Given the description of an element on the screen output the (x, y) to click on. 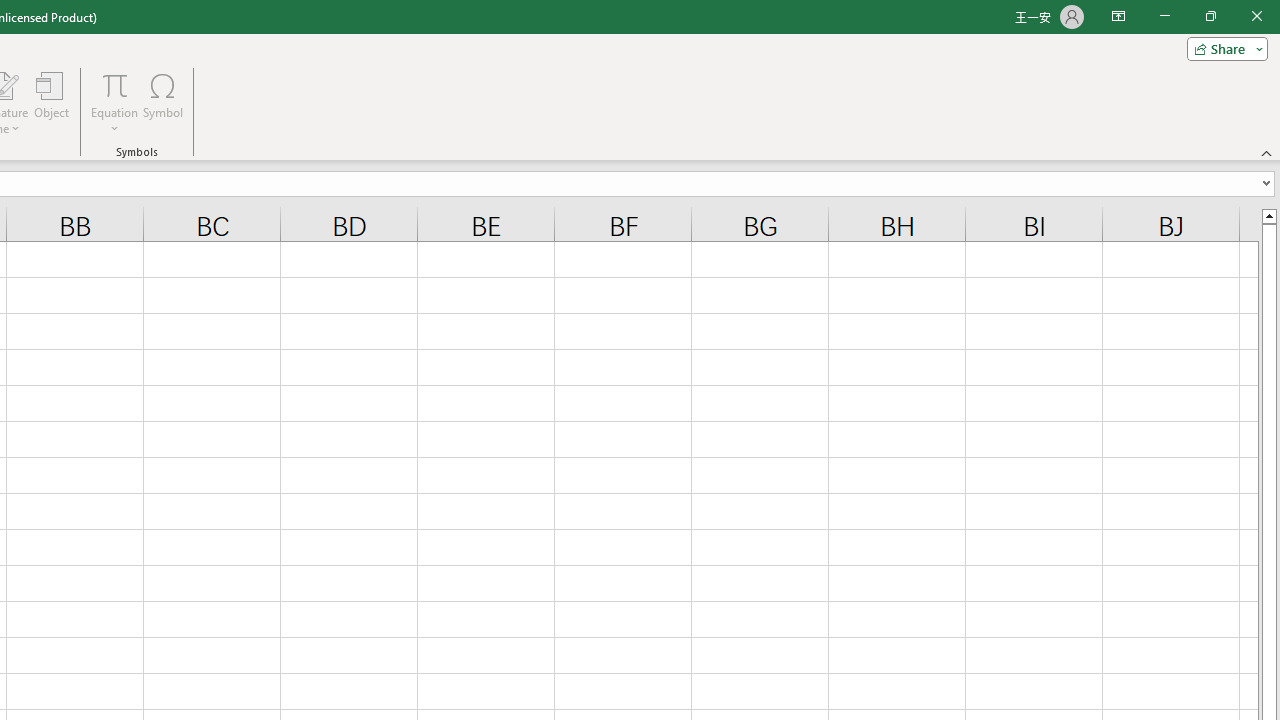
More Options (114, 121)
Object... (51, 102)
Collapse the Ribbon (1267, 152)
Close (1256, 16)
Equation (114, 84)
Equation (114, 102)
Ribbon Display Options (1118, 16)
Line up (1268, 215)
Share (1223, 48)
Restore Down (1210, 16)
Minimize (1164, 16)
Symbol... (162, 102)
